Given the description of an element on the screen output the (x, y) to click on. 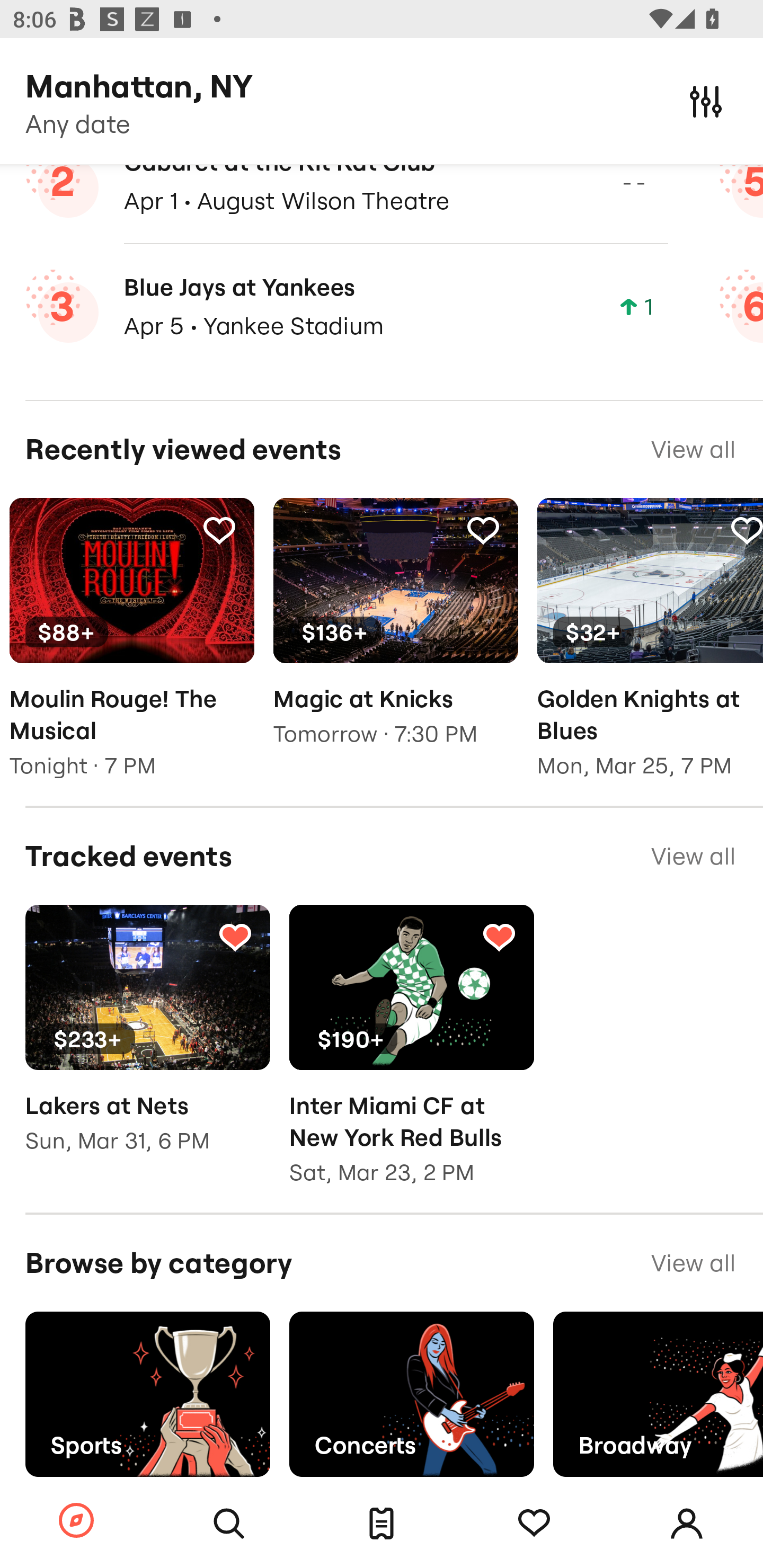
Filters (705, 100)
View all (693, 449)
Tracking $136+ Magic at Knicks Tomorrow · 7:30 PM (395, 635)
Tracking (218, 529)
Tracking (482, 529)
Tracking (745, 529)
View all (693, 855)
Tracking $233+ Lakers at Nets Sun, Mar 31, 6 PM (147, 1041)
Tracking (234, 935)
Tracking (498, 935)
View all (693, 1262)
Sports (147, 1393)
Concerts (411, 1393)
Broadway (658, 1393)
Browse (76, 1521)
Search (228, 1523)
Tickets (381, 1523)
Tracking (533, 1523)
Account (686, 1523)
